Given the description of an element on the screen output the (x, y) to click on. 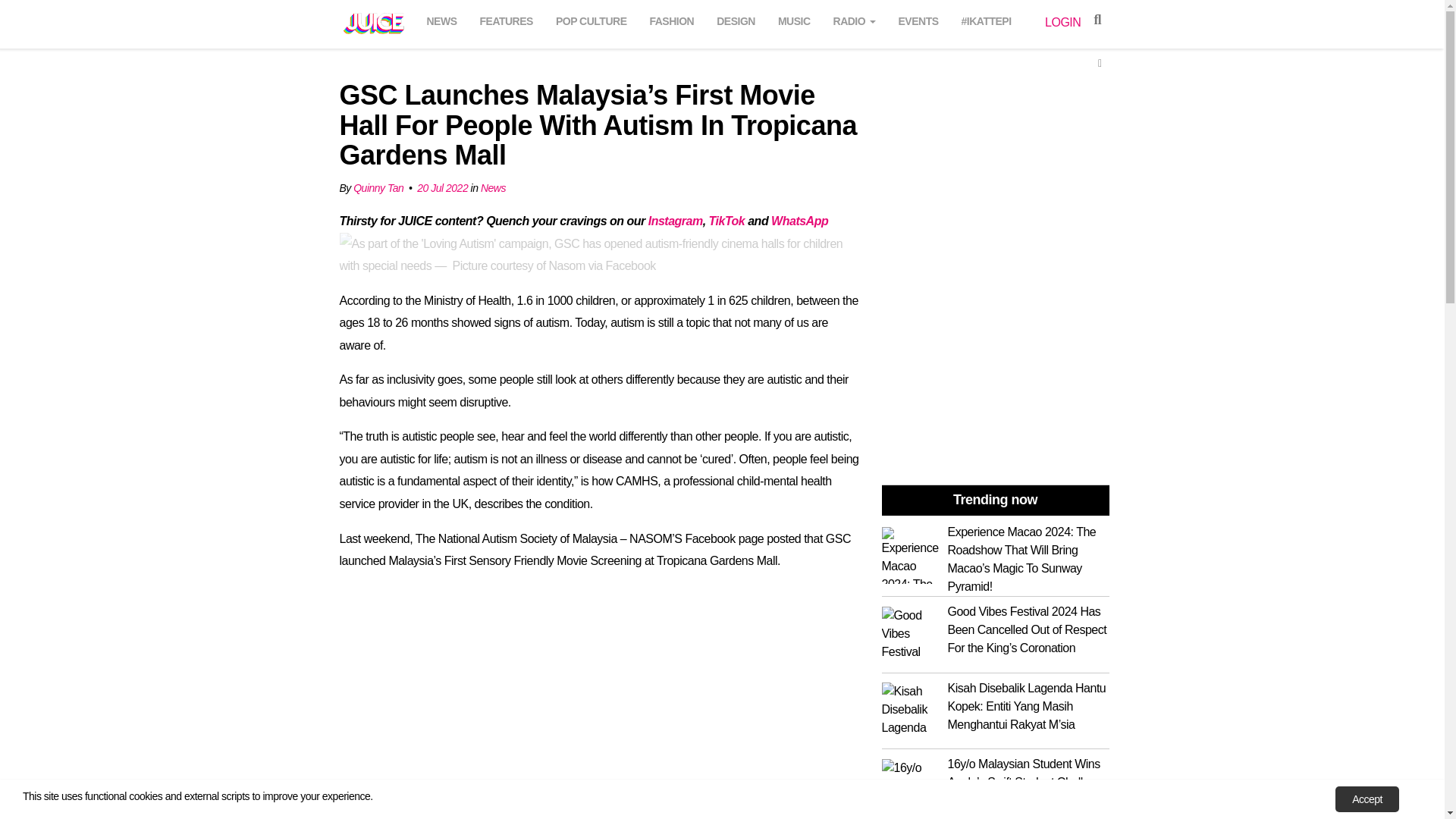
Design (735, 19)
MUSIC (794, 19)
Radio (854, 19)
News (441, 19)
EVENTS (918, 19)
DESIGN (735, 19)
POP CULTURE (591, 19)
Fashion (671, 19)
Music (794, 19)
FASHION (671, 19)
FEATURES (505, 19)
RADIO (854, 19)
NEWS (441, 19)
Features (505, 19)
Events (918, 19)
